Given the description of an element on the screen output the (x, y) to click on. 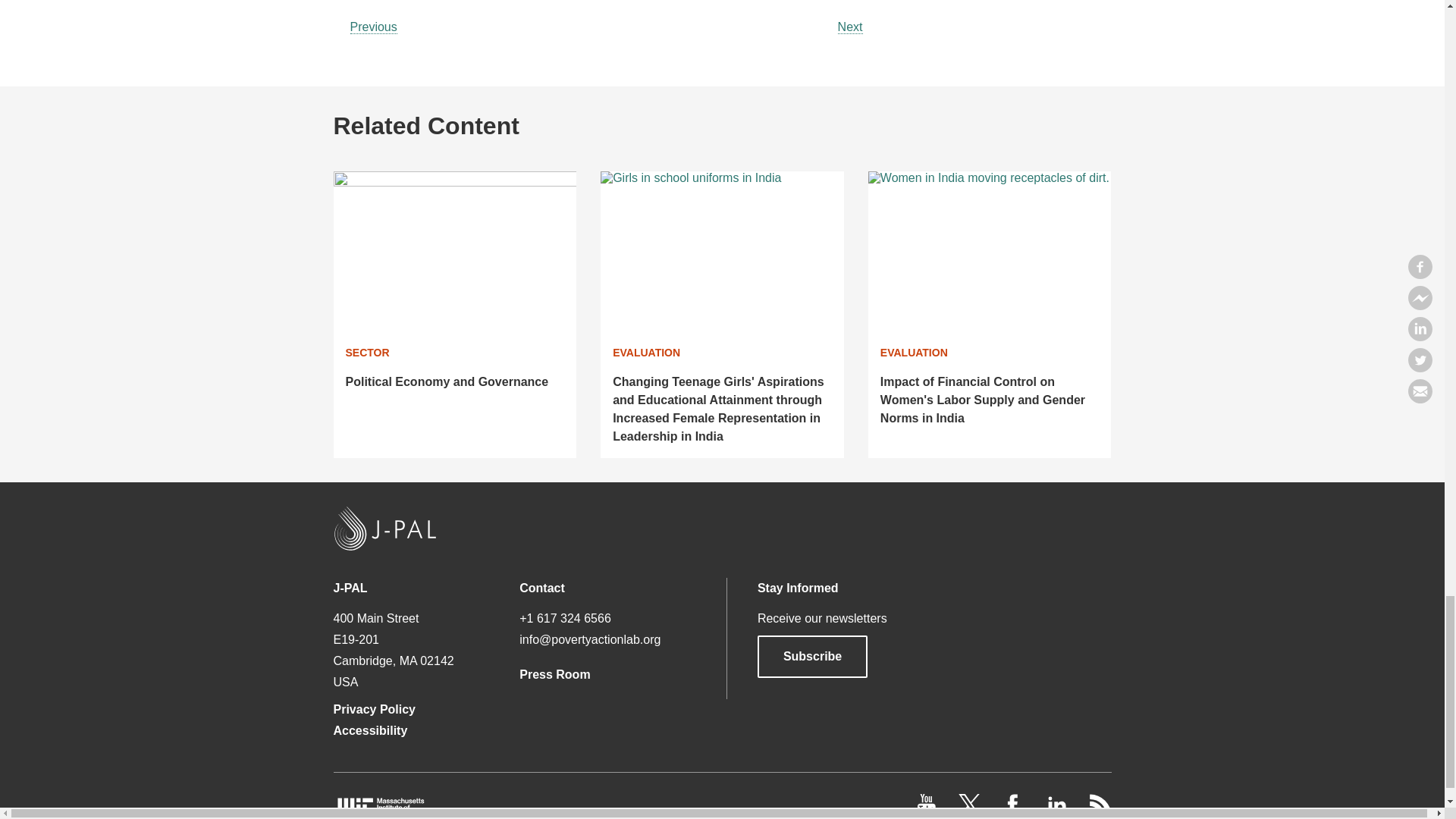
rss feed (1099, 811)
youtube (927, 811)
facebook (1015, 811)
LinkedIn (1057, 811)
twitter (971, 811)
